Given the description of an element on the screen output the (x, y) to click on. 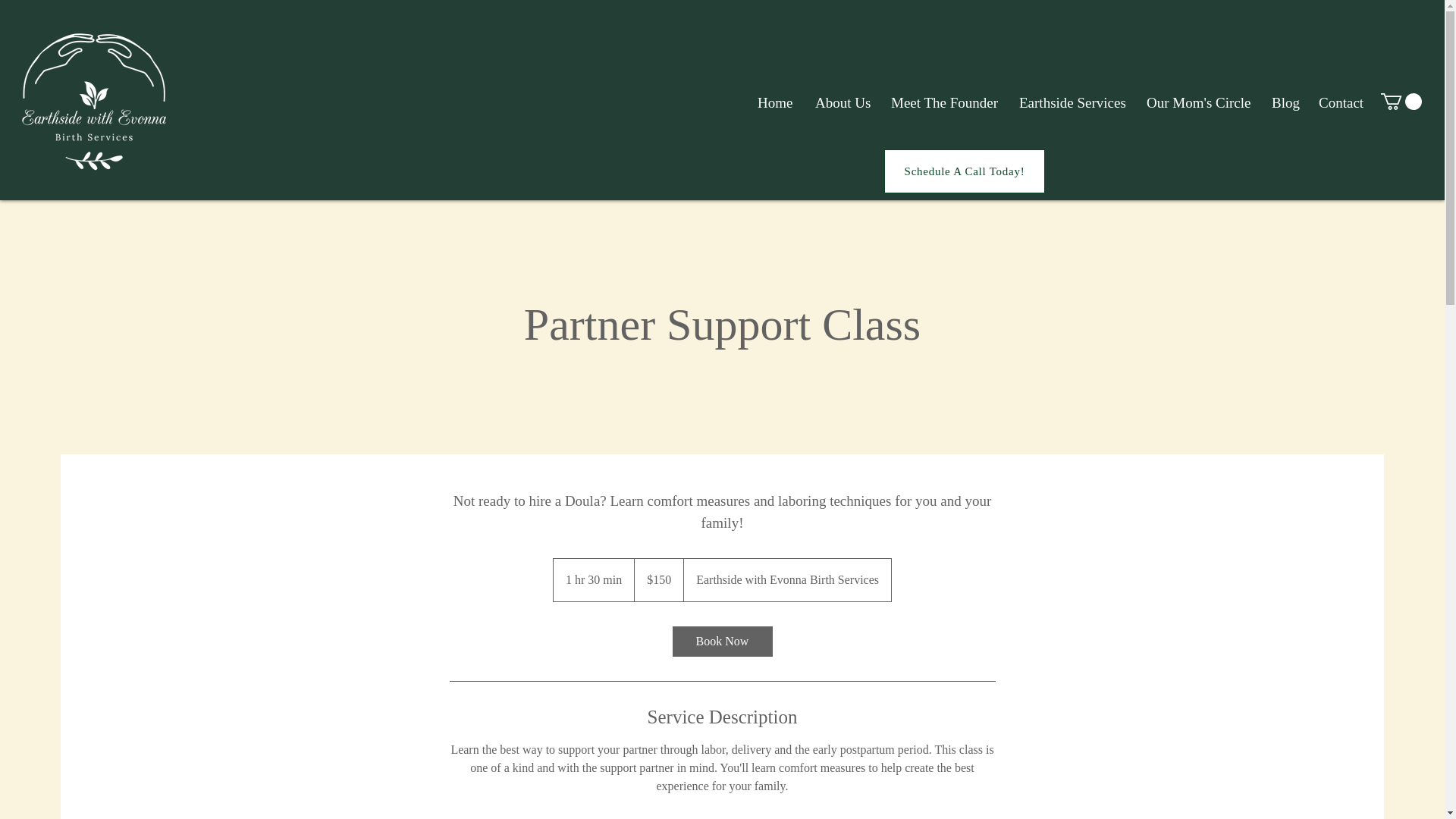
Schedule A Call Today! (964, 171)
Meet The Founder (943, 103)
Our Mom's Circle (1197, 103)
Earthside Services (1071, 103)
Book Now (721, 641)
Blog (1283, 103)
Contact (1340, 103)
Home (774, 103)
About Us (841, 103)
